Given the description of an element on the screen output the (x, y) to click on. 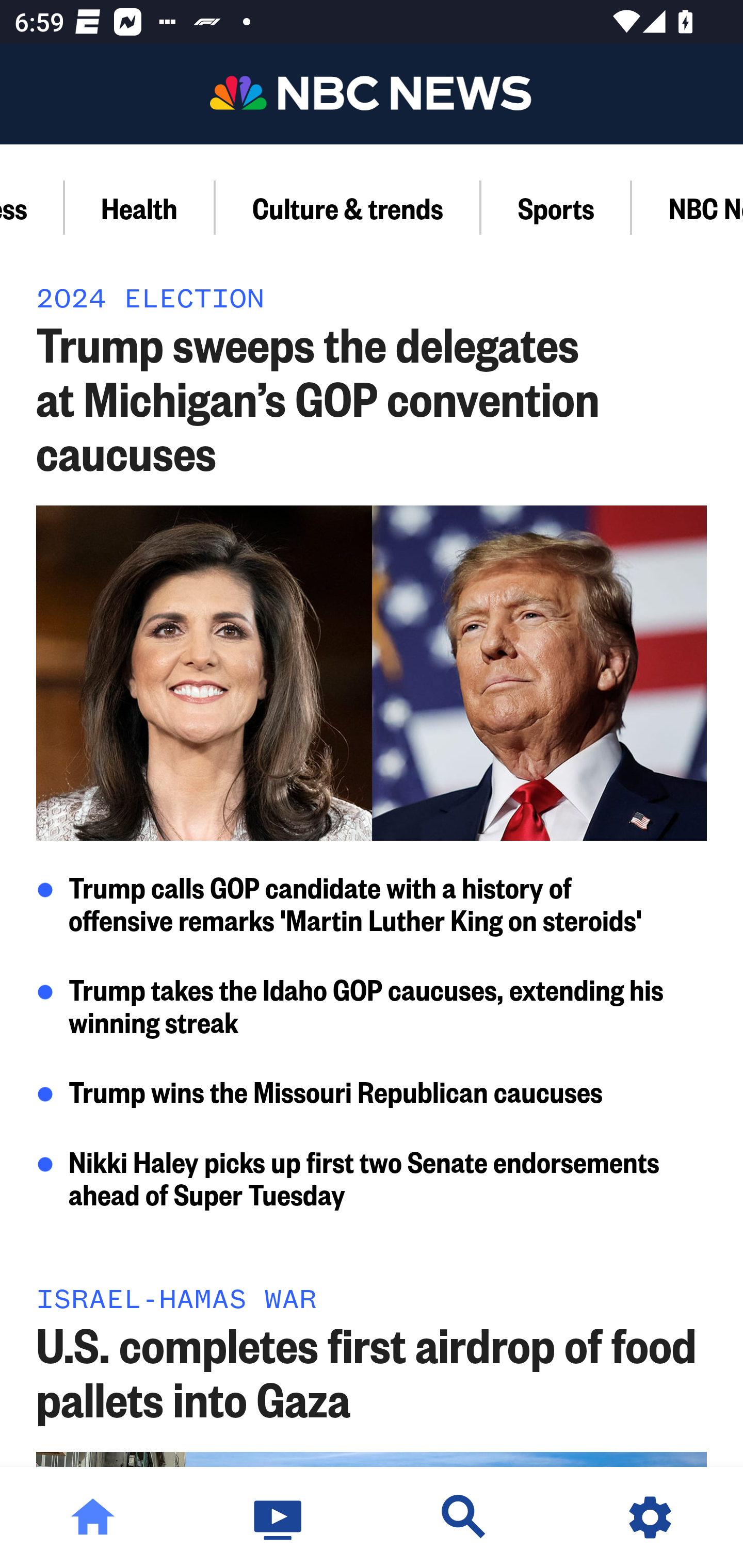
Health Section,Health (140, 207)
Culture & trends Section,Culture & trends (348, 207)
Sports Section,Sports (556, 207)
Watch (278, 1517)
Discover (464, 1517)
Settings (650, 1517)
